Given the description of an element on the screen output the (x, y) to click on. 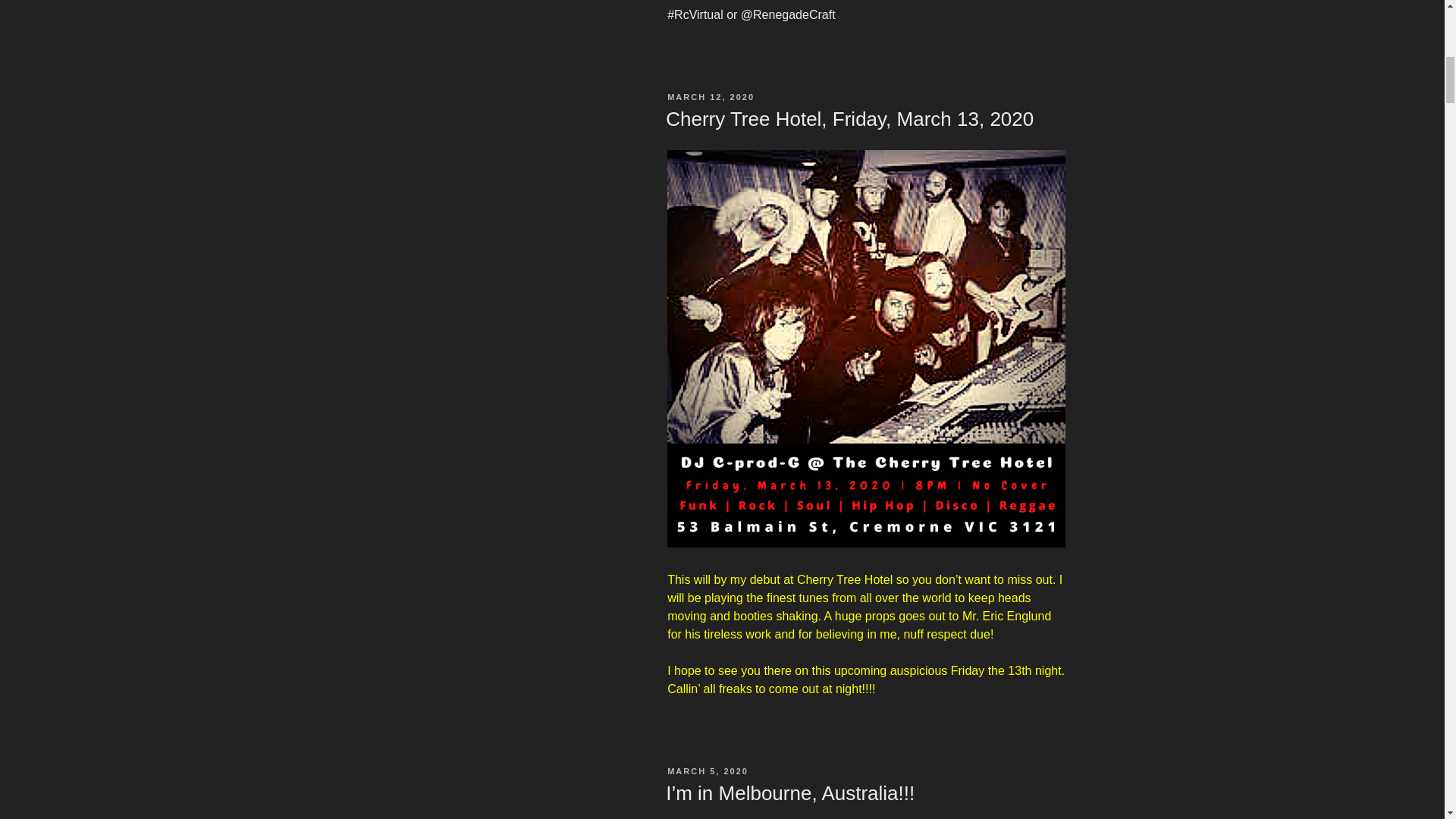
MARCH 12, 2020 (710, 96)
MARCH 5, 2020 (707, 770)
Cherry Tree Hotel, Friday, March 13, 2020 (849, 118)
